Given the description of an element on the screen output the (x, y) to click on. 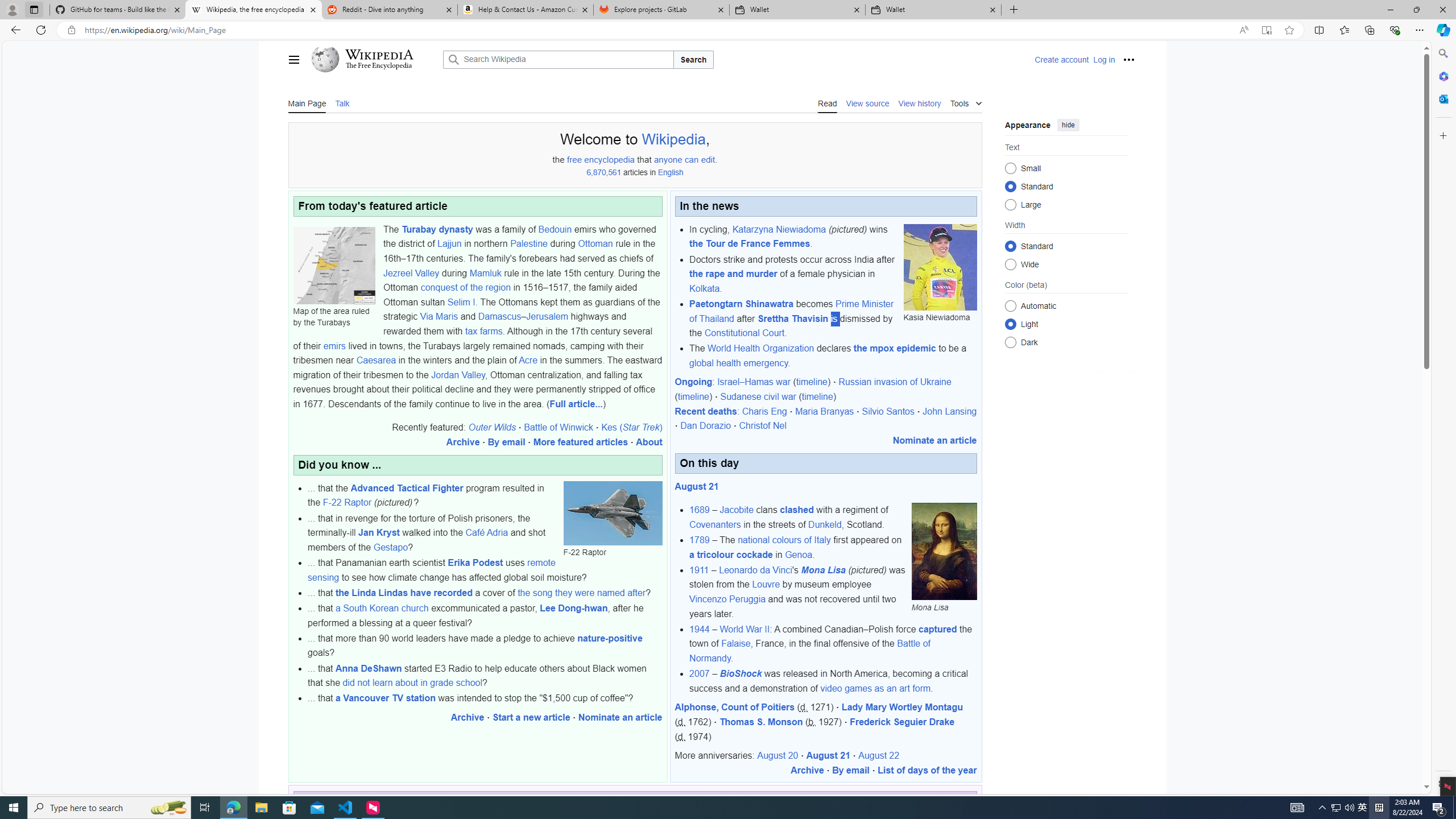
hide (1067, 124)
Ongoing (692, 381)
Wide (1010, 263)
Side bar (1443, 418)
Create account (1062, 58)
free (574, 159)
a Vancouver TV station (385, 698)
the rape and murder (732, 273)
global health emergency (737, 362)
emirs (334, 345)
